Given the description of an element on the screen output the (x, y) to click on. 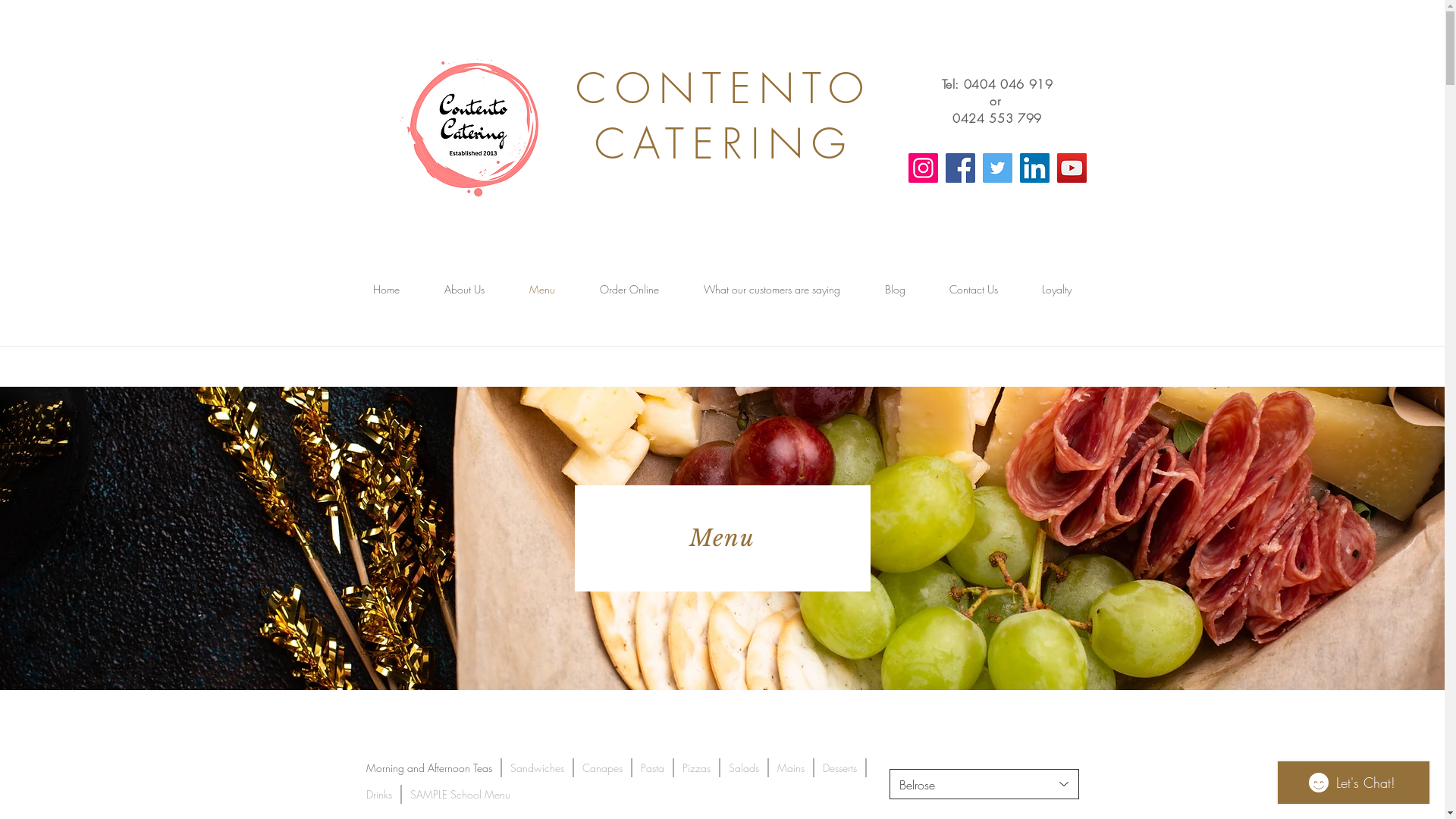
Order Online Element type: text (629, 289)
Conteno Catering offer fresh and tasty food.  Element type: hover (471, 124)
Menu Element type: text (541, 289)
Contact Us Element type: text (972, 289)
Blog Element type: text (894, 289)
Home Element type: text (385, 289)
Loyalty Element type: text (1055, 289)
What our customers are saying Element type: text (771, 289)
About Us Element type: text (463, 289)
CONTENTO CATERING Element type: text (723, 115)
